Given the description of an element on the screen output the (x, y) to click on. 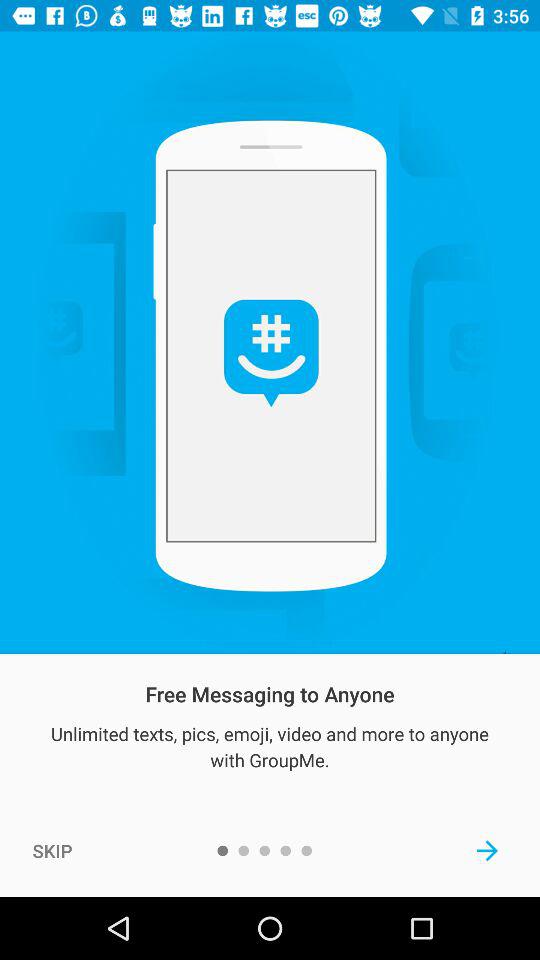
sign up (487, 850)
